Given the description of an element on the screen output the (x, y) to click on. 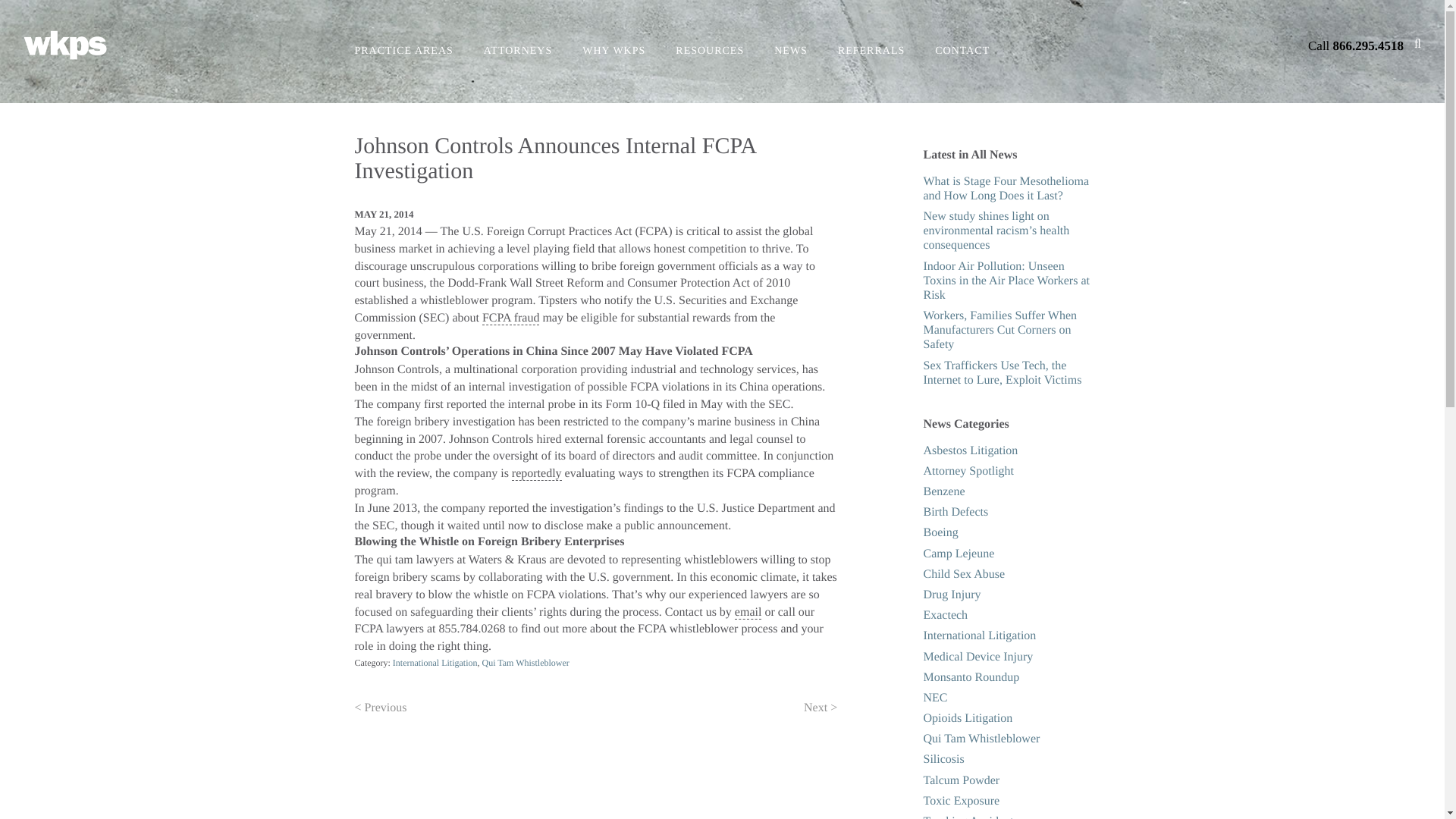
WHY WKPS (613, 51)
PRACTICE AREAS (403, 51)
ATTORNEYS (517, 51)
